Given the description of an element on the screen output the (x, y) to click on. 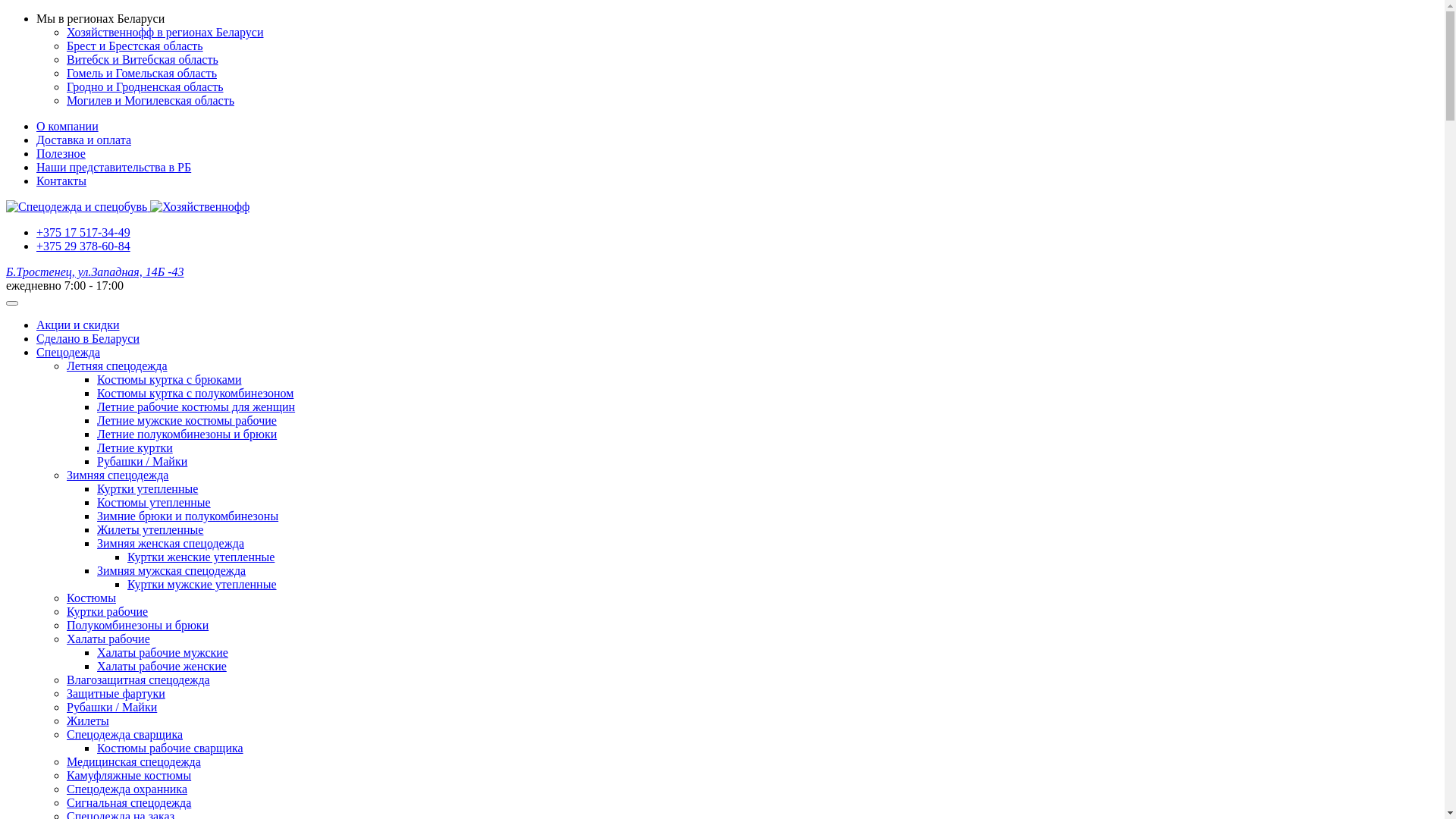
+375 17 517-34-49 Element type: text (83, 231)
+375 29 378-60-84 Element type: text (83, 245)
